Given the description of an element on the screen output the (x, y) to click on. 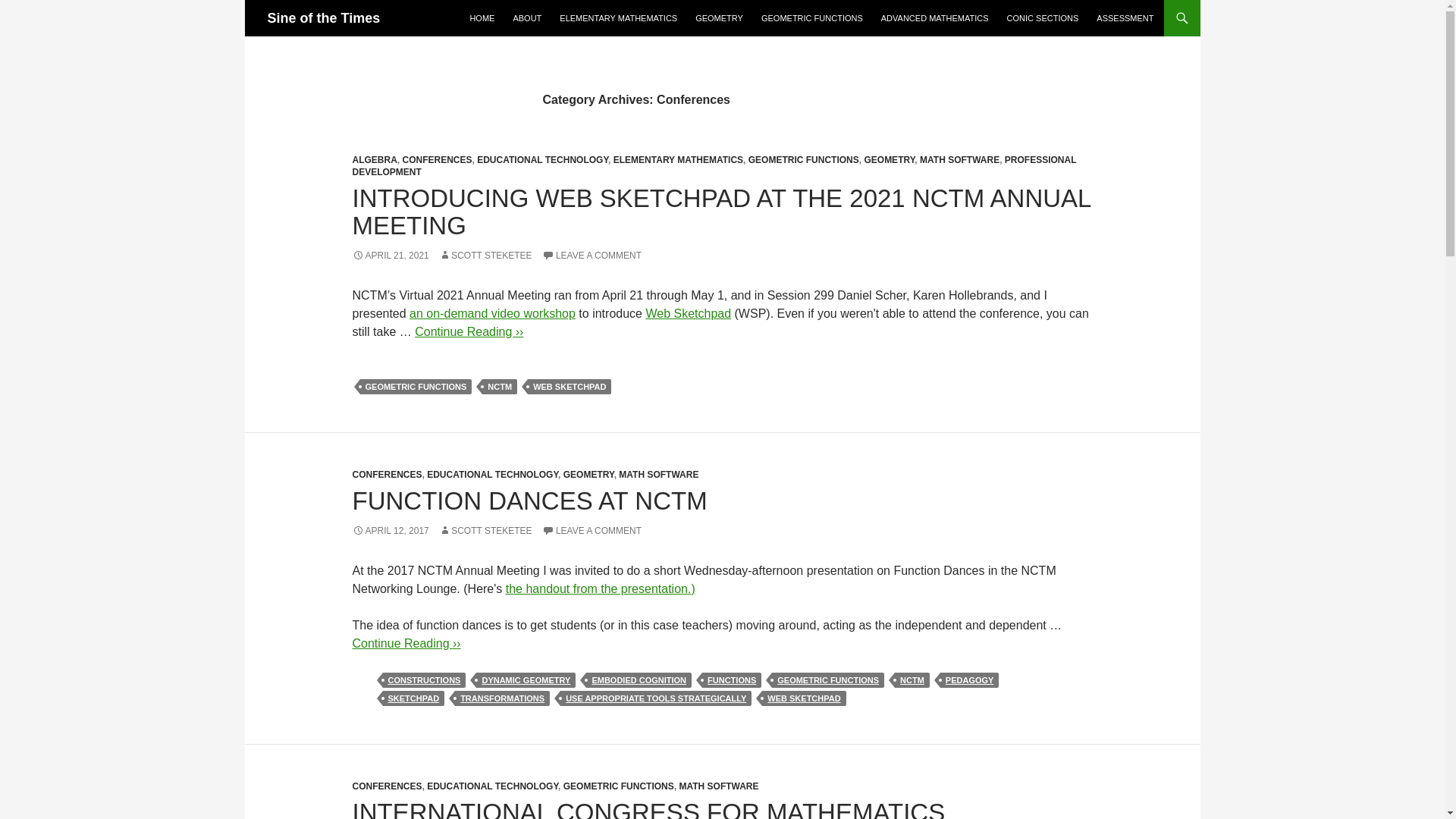
GEOMETRY (718, 18)
MATH SOFTWARE (959, 159)
ELEMENTARY MATHEMATICS (677, 159)
MATH SOFTWARE (658, 474)
Sine of the Times (323, 18)
CONIC SECTIONS (1042, 18)
HOME (481, 18)
ALGEBRA (374, 159)
GEOMETRIC FUNCTIONS (415, 386)
GEOMETRY (588, 474)
APRIL 12, 2017 (390, 530)
NCTM (498, 386)
LEAVE A COMMENT (591, 255)
an on-demand video workshop (492, 313)
WEB SKETCHPAD (569, 386)
